Given the description of an element on the screen output the (x, y) to click on. 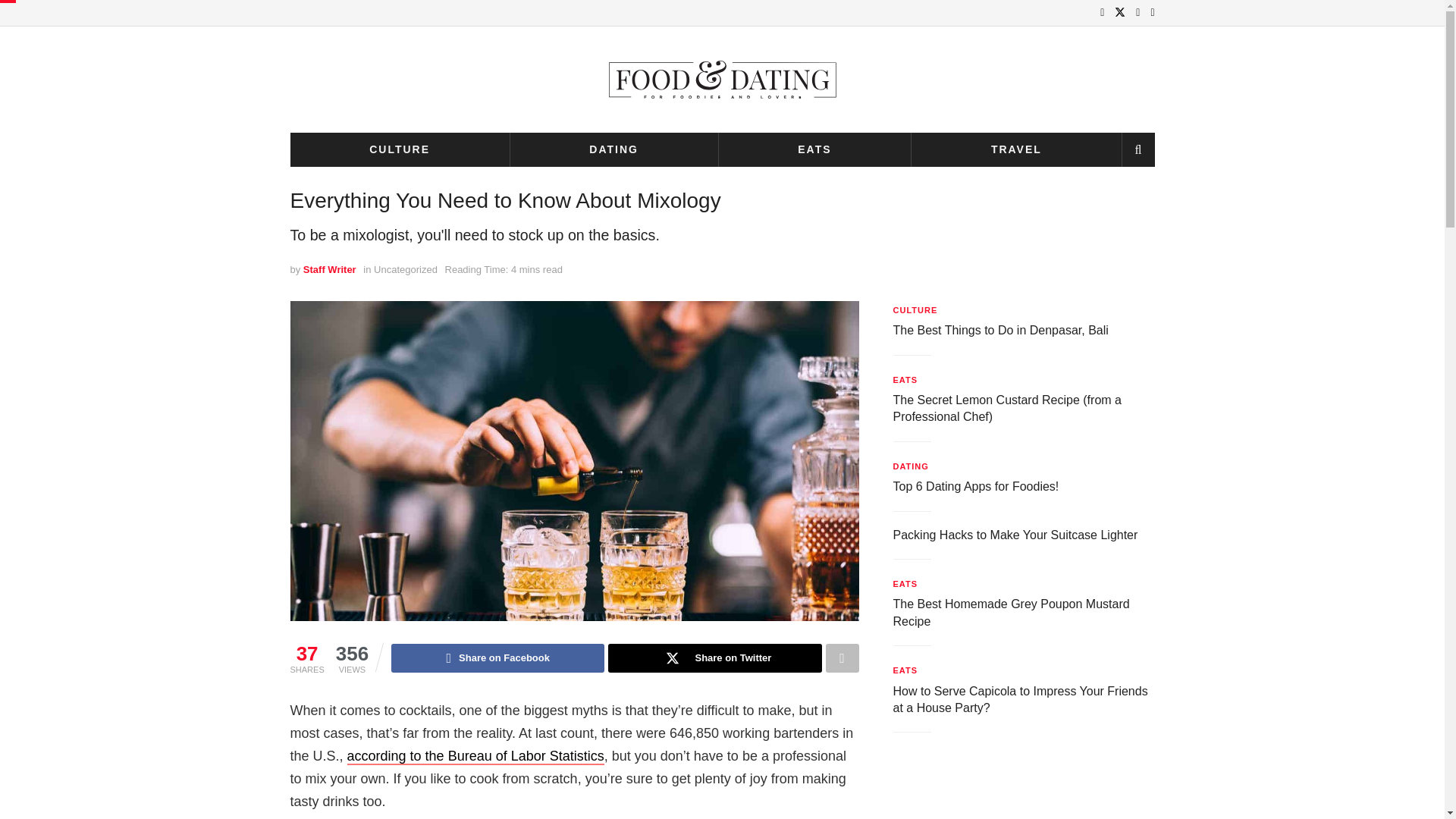
Share on Twitter (714, 657)
DATING (614, 149)
TRAVEL (1016, 149)
EATS (815, 149)
according to the Bureau of Labor Statistics (475, 756)
Share on Facebook (497, 657)
CULTURE (398, 149)
Staff Writer (329, 269)
